Given the description of an element on the screen output the (x, y) to click on. 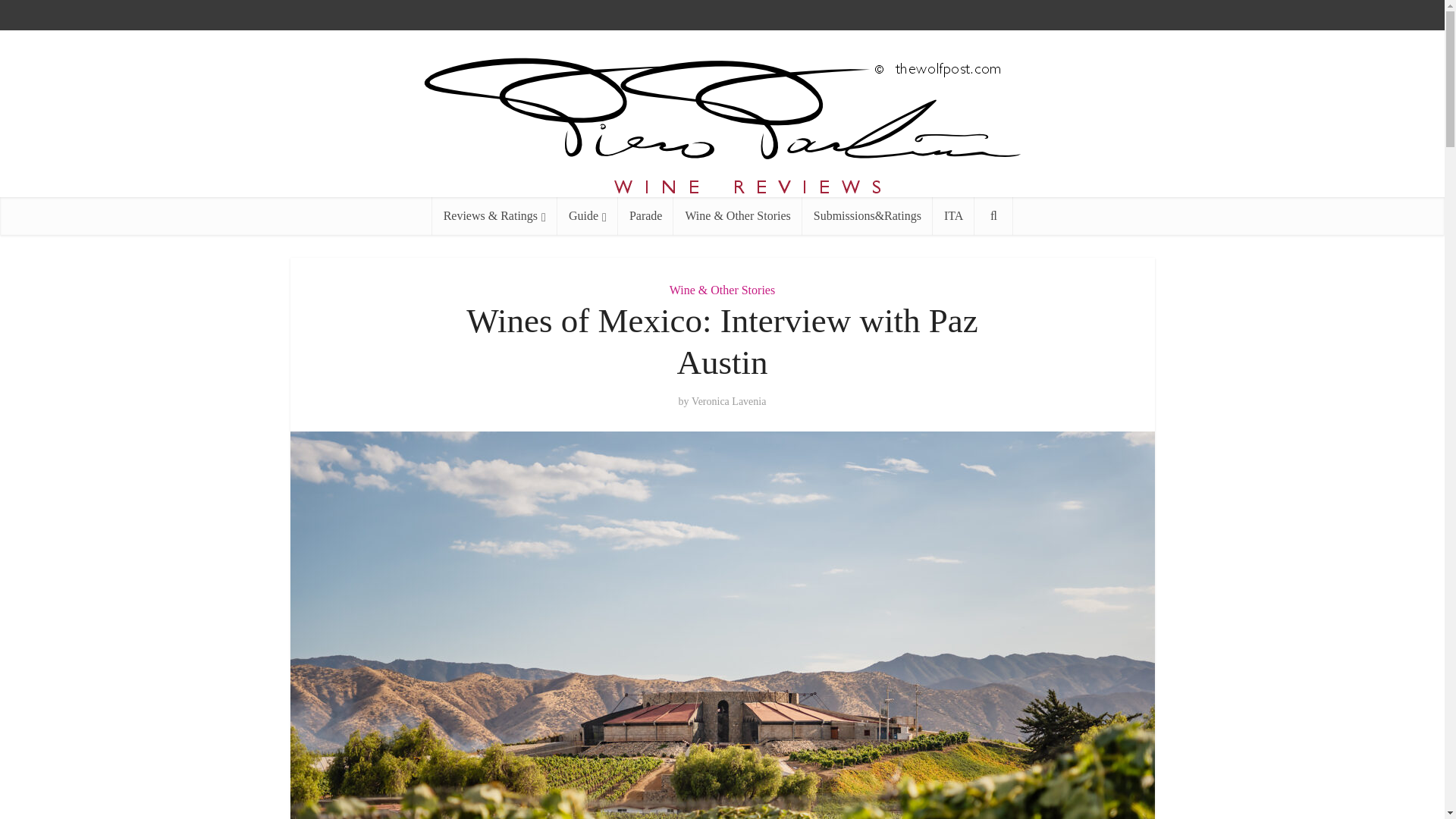
Parade (645, 216)
Guide (587, 216)
